Given the description of an element on the screen output the (x, y) to click on. 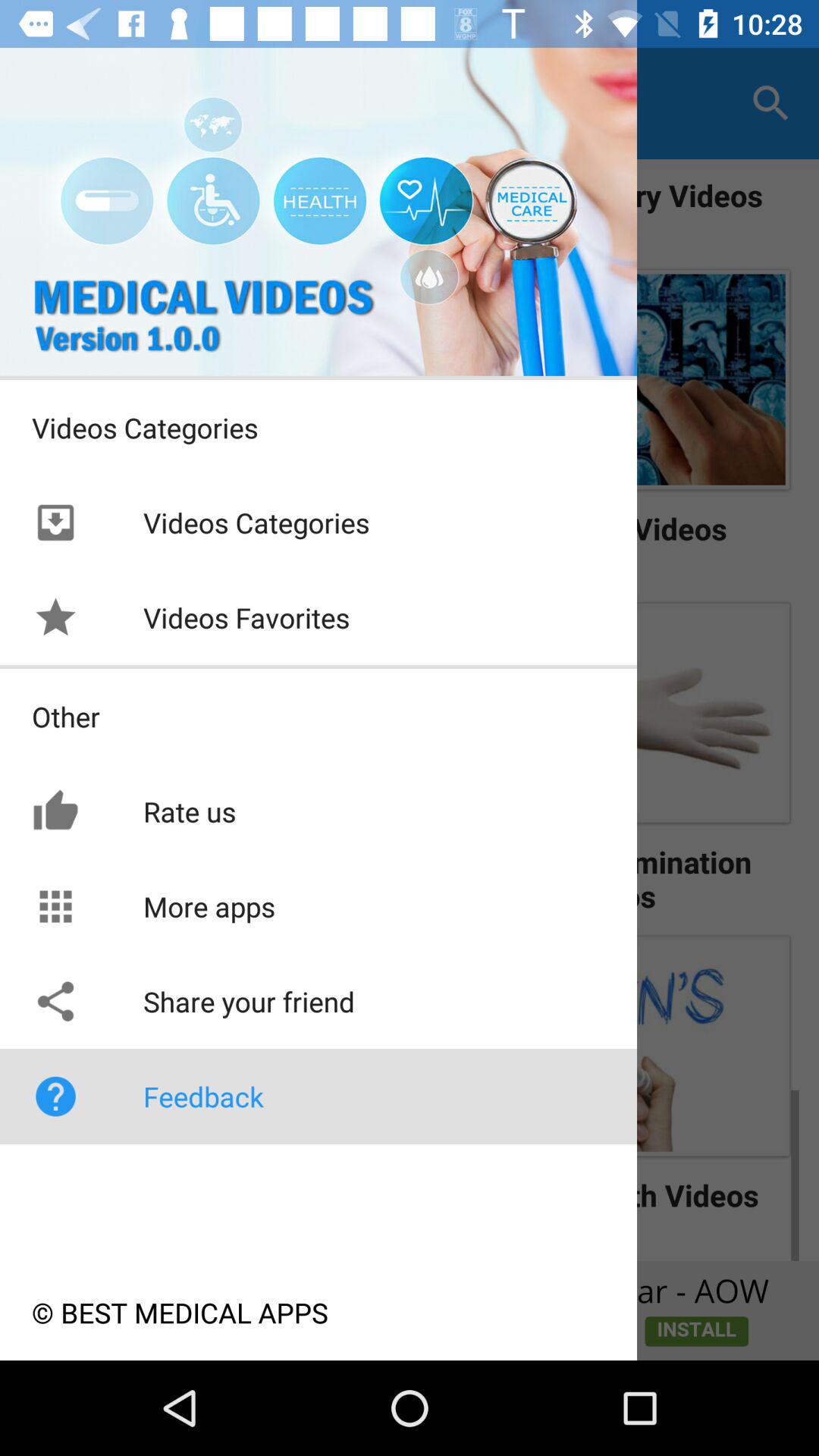
click on the first icon under the videos categories (55, 523)
select the feedback icon (55, 1097)
